Given the description of an element on the screen output the (x, y) to click on. 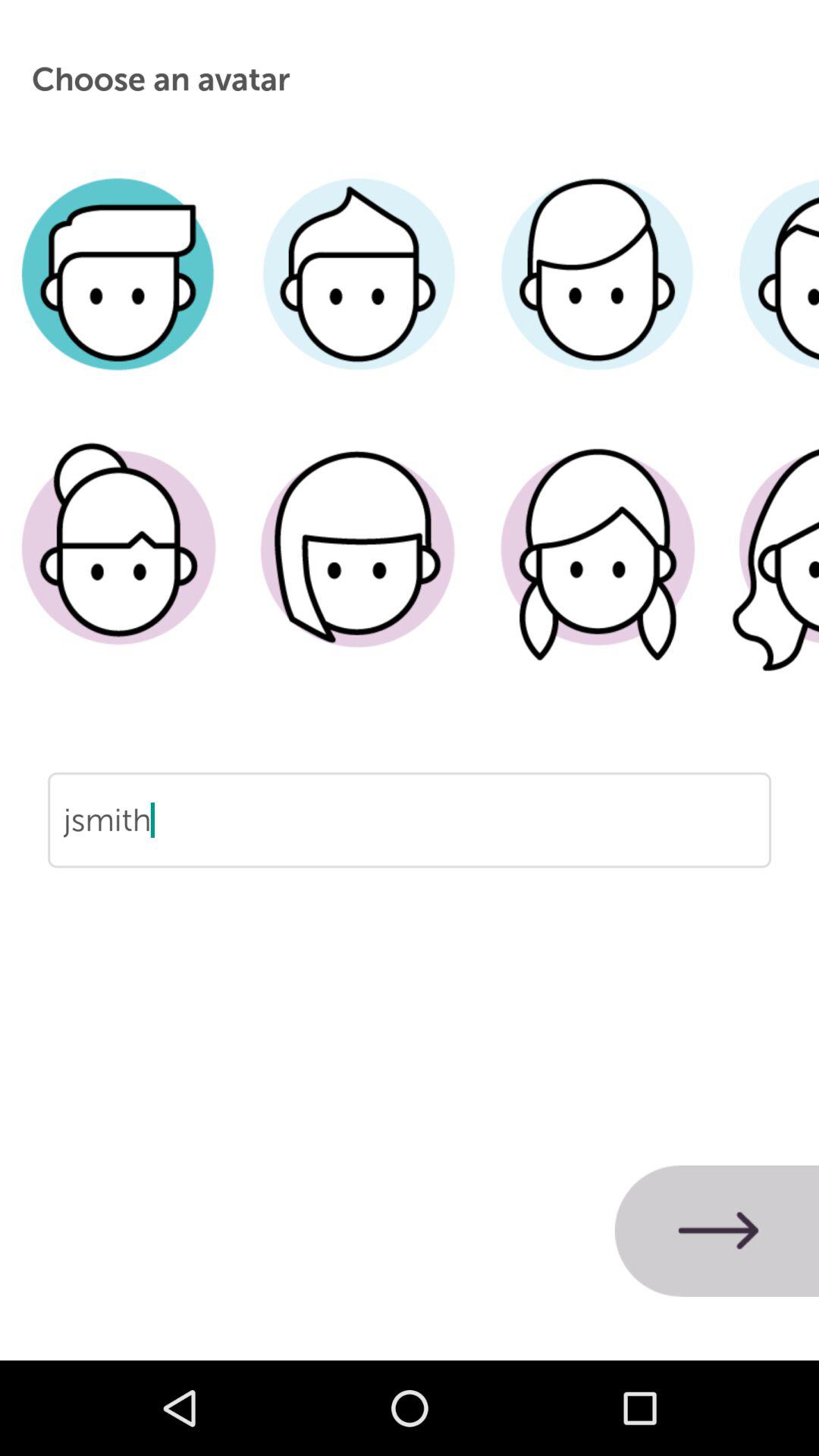
drawing of a boy (119, 296)
